Given the description of an element on the screen output the (x, y) to click on. 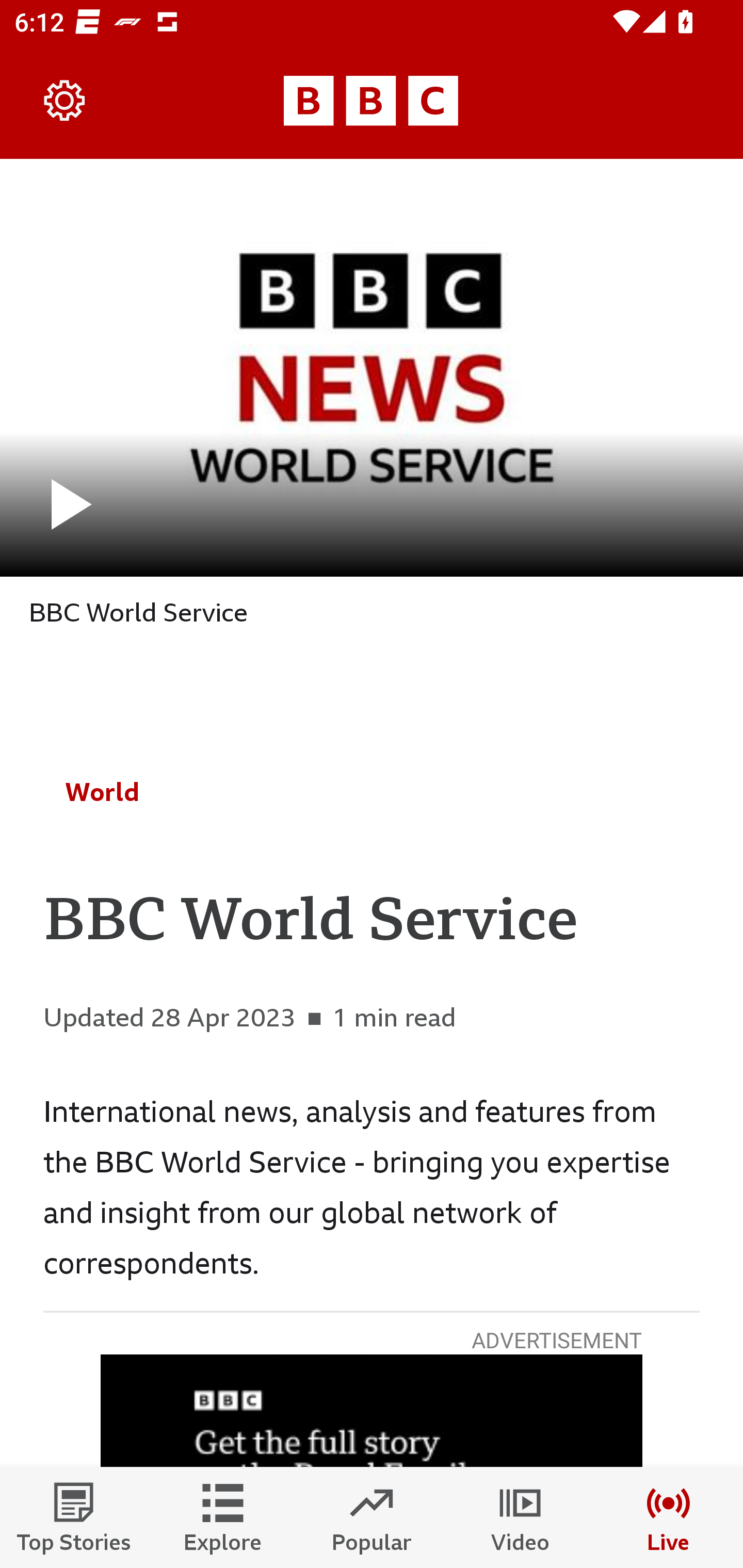
Settings (64, 100)
play fullscreen (371, 367)
World (102, 791)
Top Stories (74, 1517)
Explore (222, 1517)
Popular (371, 1517)
Video (519, 1517)
